Given the description of an element on the screen output the (x, y) to click on. 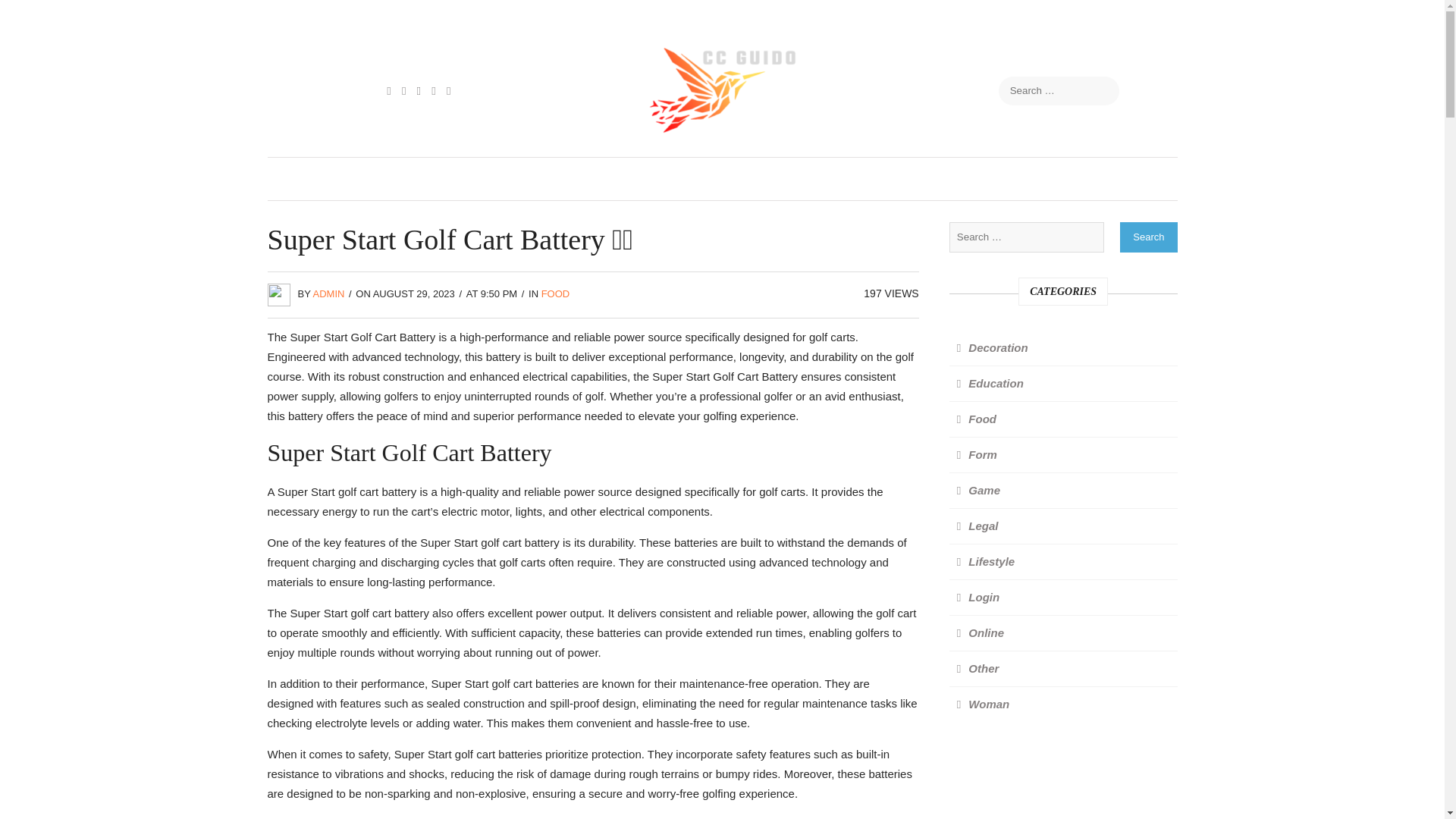
Legal (977, 524)
GAME (697, 178)
FOOD (561, 178)
Form (976, 453)
FOOD (555, 293)
Education (989, 382)
LIFESTYLE (852, 178)
Search (1147, 236)
ADMIN (329, 293)
Game (978, 490)
Lifestyle (985, 561)
Search (1147, 236)
FORM (629, 178)
LEGAL (769, 178)
Posts by admin (329, 293)
